Given the description of an element on the screen output the (x, y) to click on. 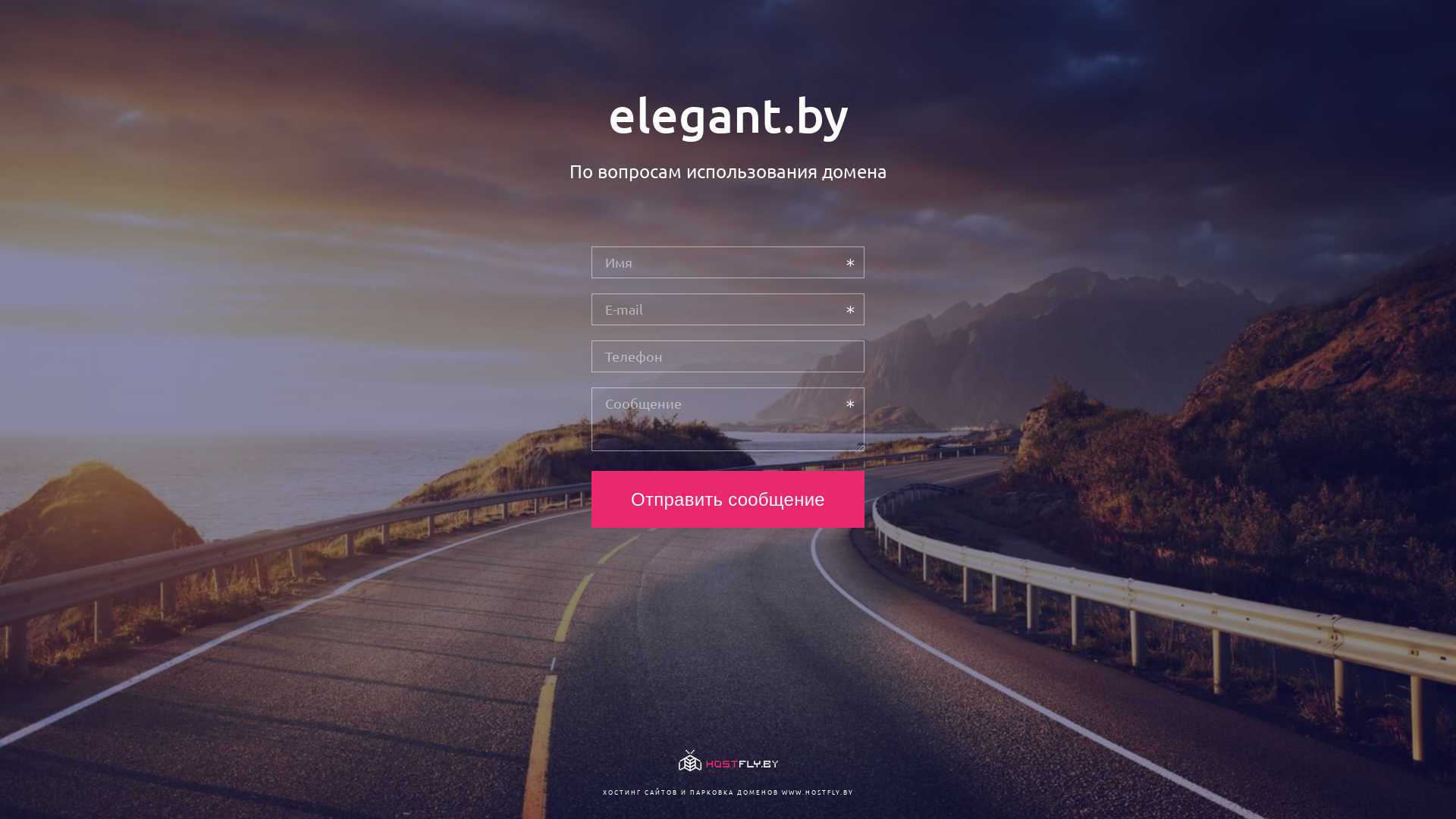
WWW.HOSTFLY.BY Element type: text (817, 791)
